Given the description of an element on the screen output the (x, y) to click on. 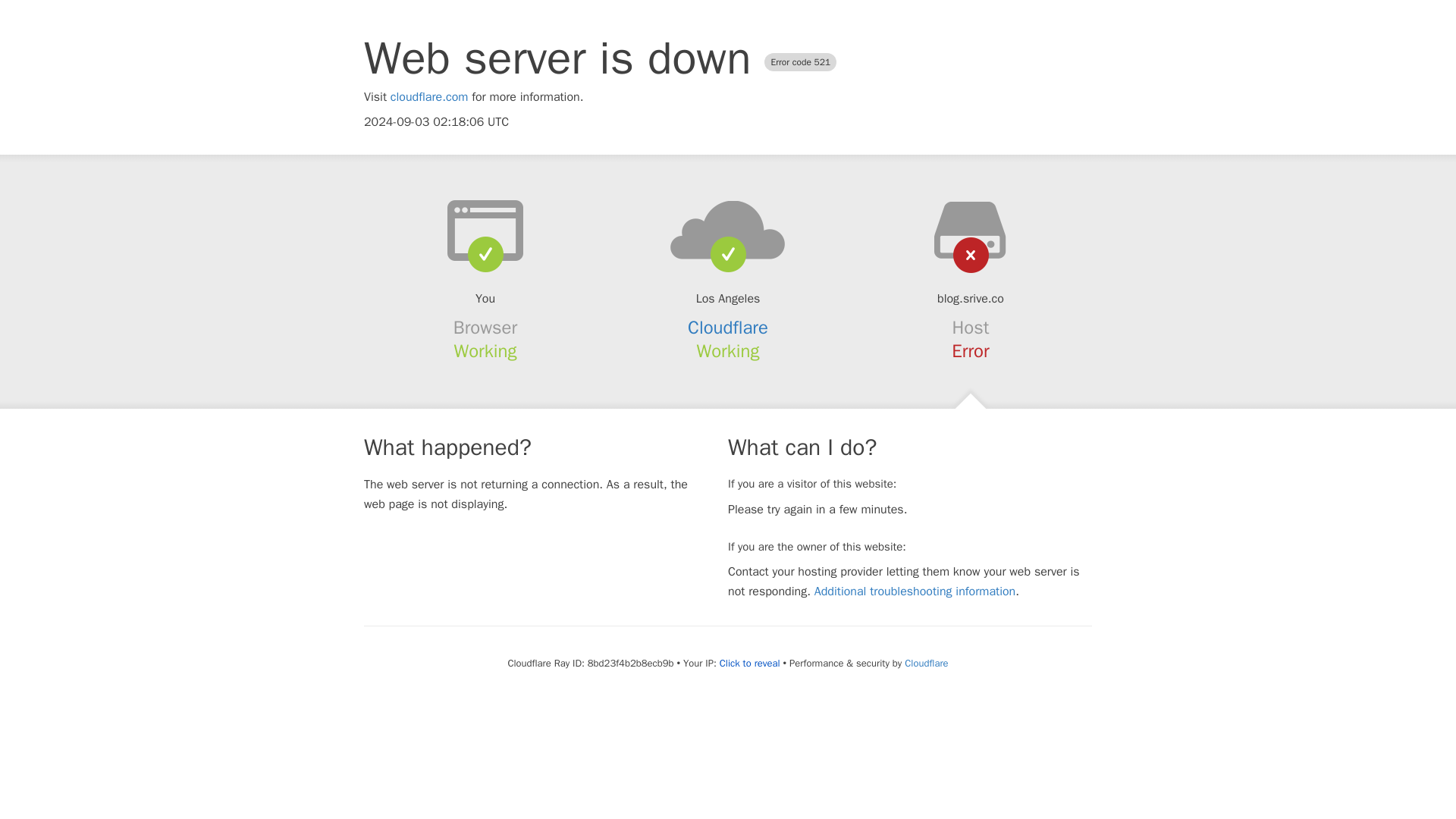
Click to reveal (749, 663)
Additional troubleshooting information (913, 590)
Cloudflare (925, 662)
Cloudflare (727, 327)
cloudflare.com (429, 96)
